Given the description of an element on the screen output the (x, y) to click on. 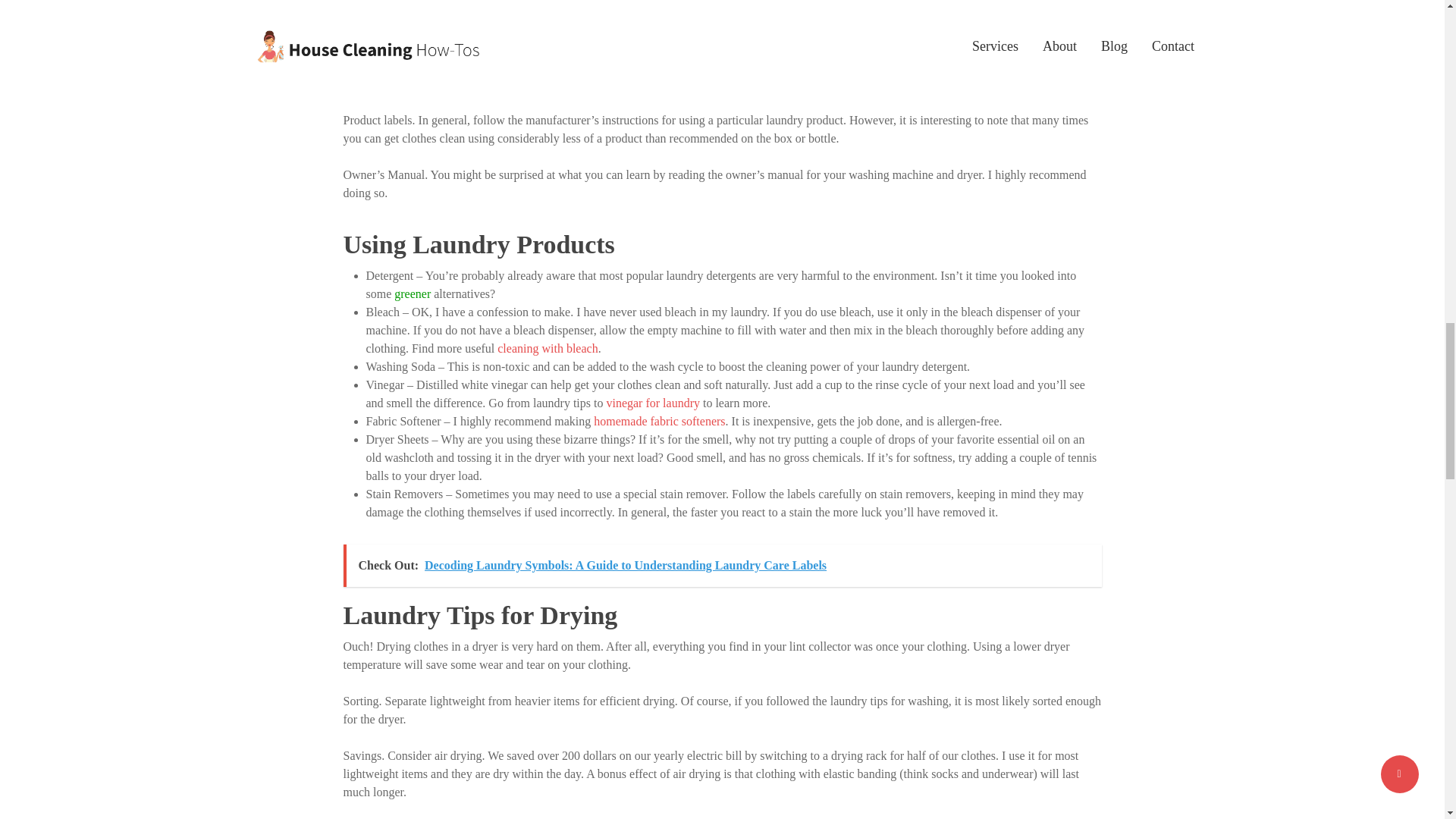
cleaning with bleach (546, 348)
laundry symbols (698, 65)
hand washing clothes (964, 83)
homemade fabric softeners (659, 420)
vinegar for laundry (652, 402)
